Given the description of an element on the screen output the (x, y) to click on. 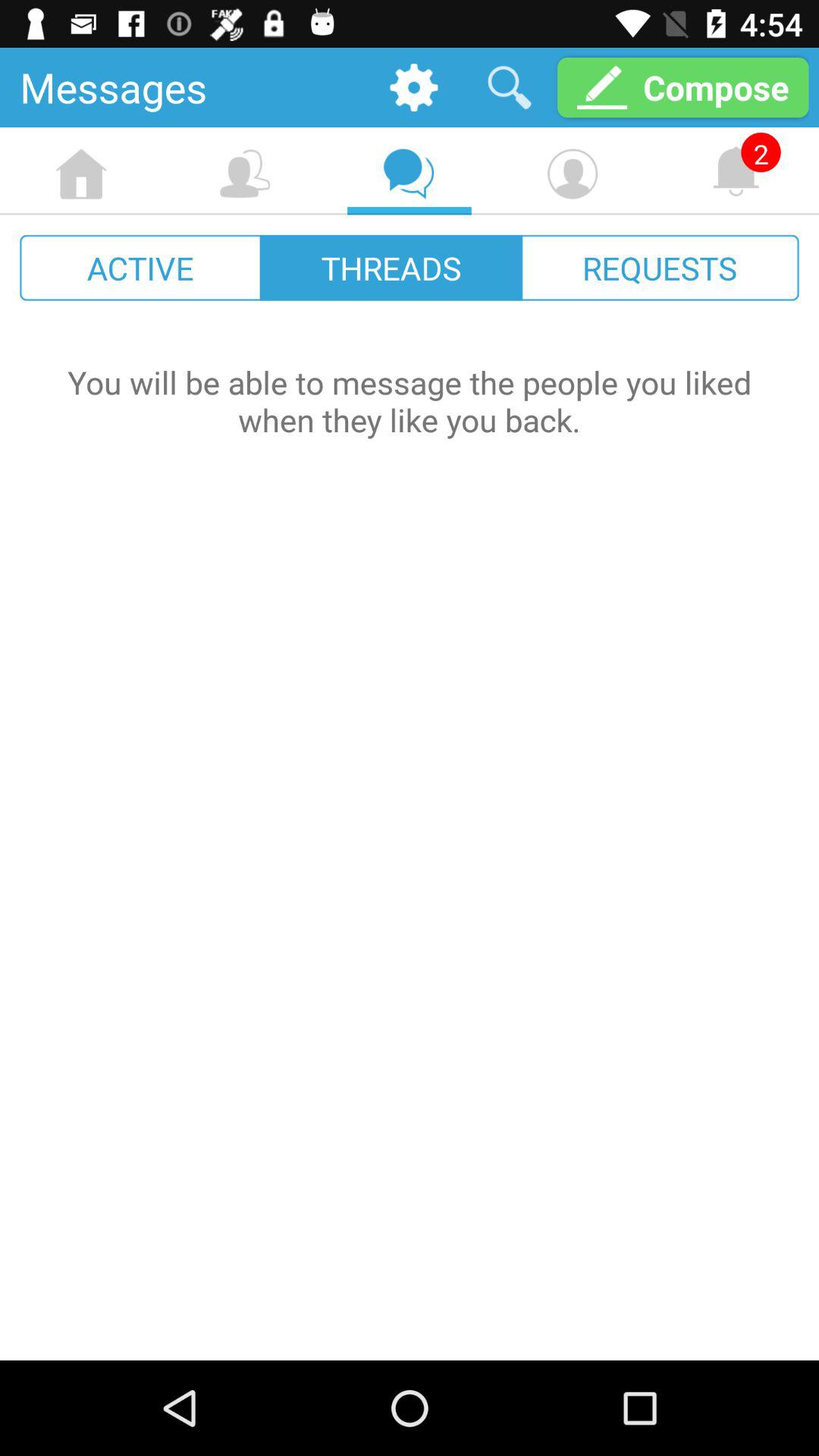
turn off the item next to threads (659, 267)
